Given the description of an element on the screen output the (x, y) to click on. 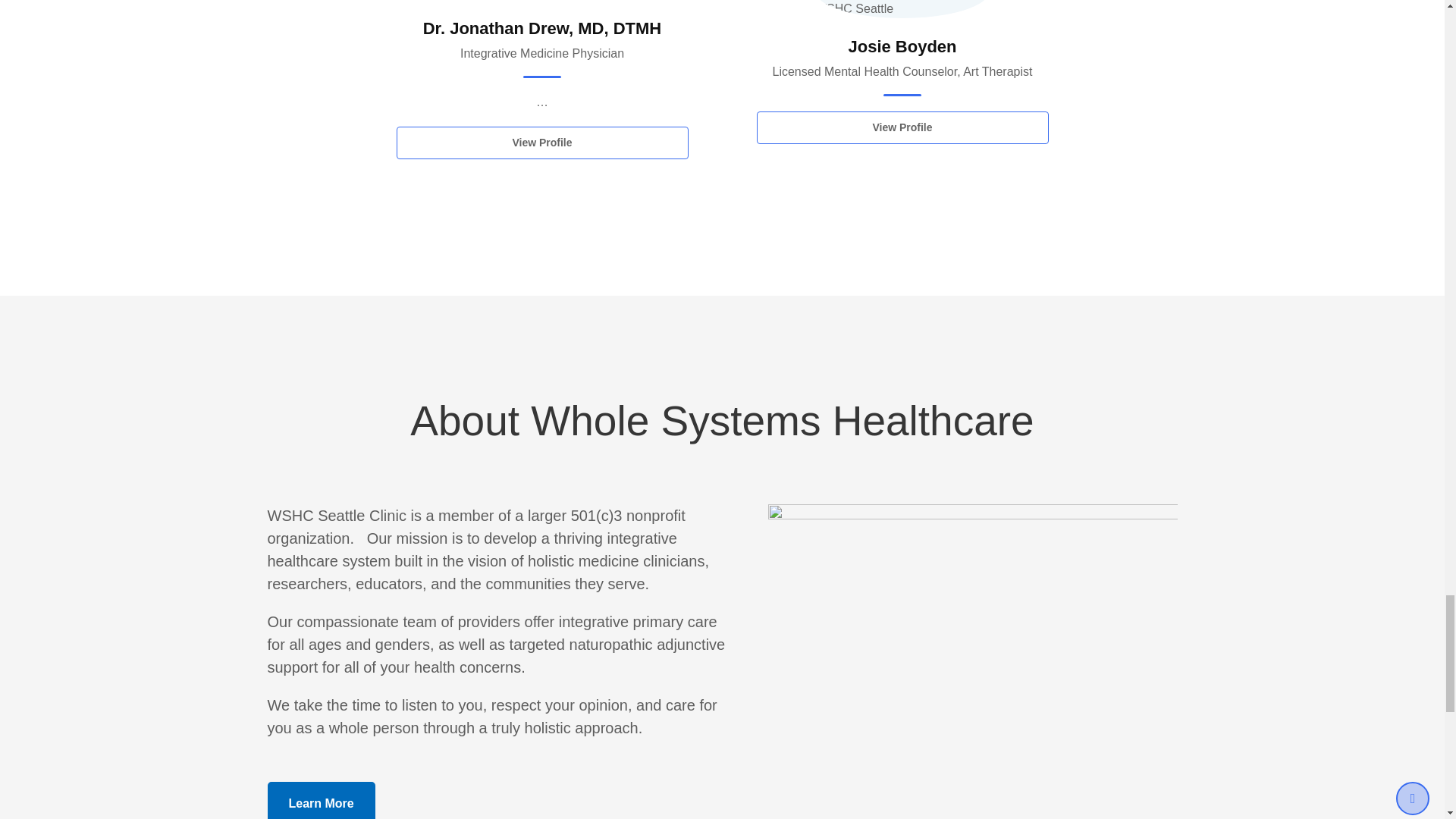
View Profile (541, 142)
Josie Boyden (901, 46)
View Profile (902, 127)
Dr. Jonathan Drew, MD, DTMH (542, 27)
Learn More (320, 800)
